Given the description of an element on the screen output the (x, y) to click on. 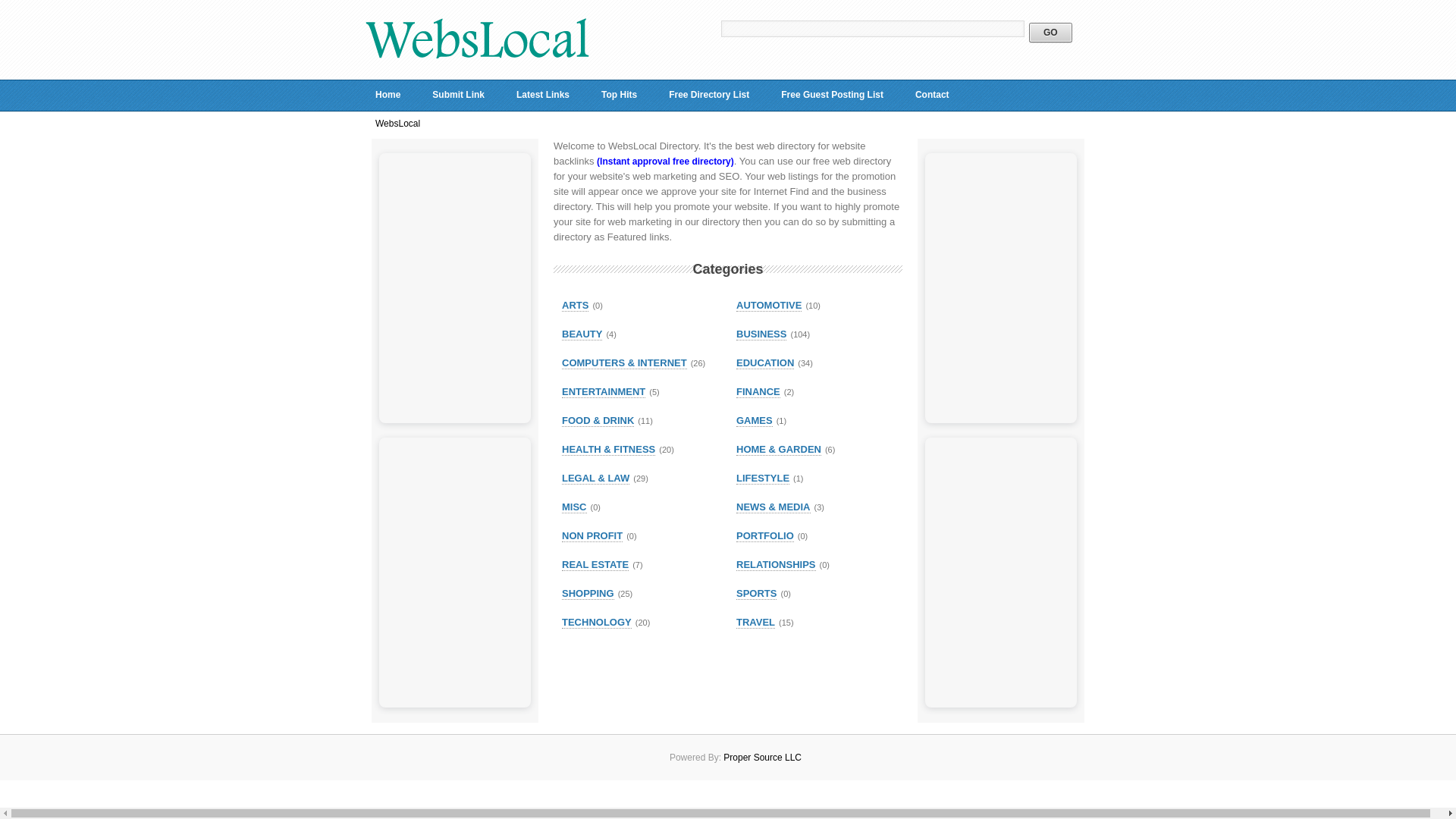
Arts (575, 305)
EDUCATION (764, 363)
Education (764, 363)
Beauty (582, 334)
TECHNOLOGY (596, 622)
Lifestyle (762, 478)
Portfolio (764, 535)
TRAVEL (755, 622)
Free Guest Posting List (832, 95)
Games (754, 420)
Contact (932, 95)
Automotive (769, 305)
NON PROFIT (592, 535)
Finance (758, 391)
RELATIONSHIPS (775, 564)
